Given the description of an element on the screen output the (x, y) to click on. 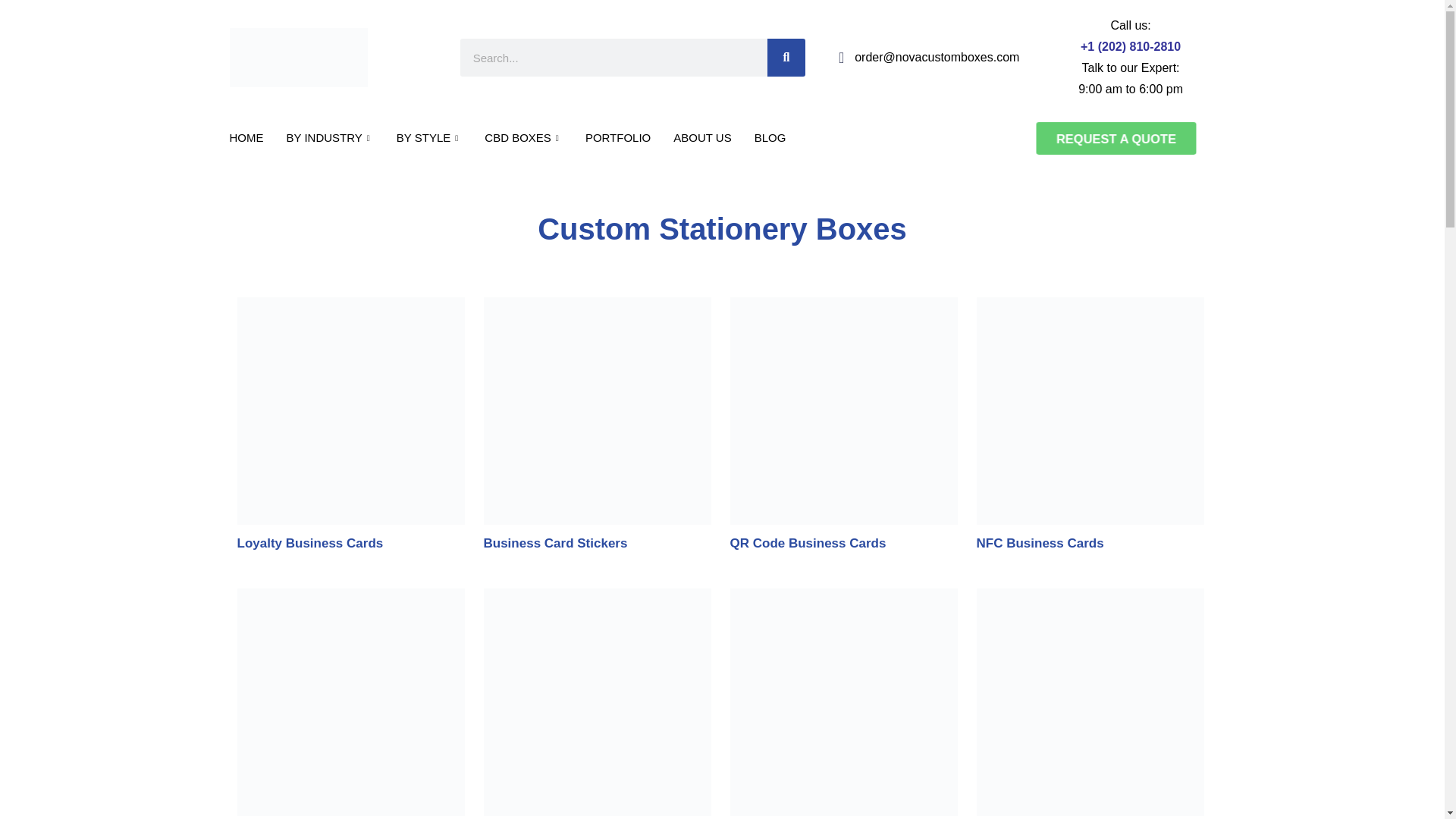
HOME (246, 137)
CBD BOXES (523, 137)
Search (786, 57)
BY STYLE (429, 137)
BY INDUSTRY (329, 137)
